Given the description of an element on the screen output the (x, y) to click on. 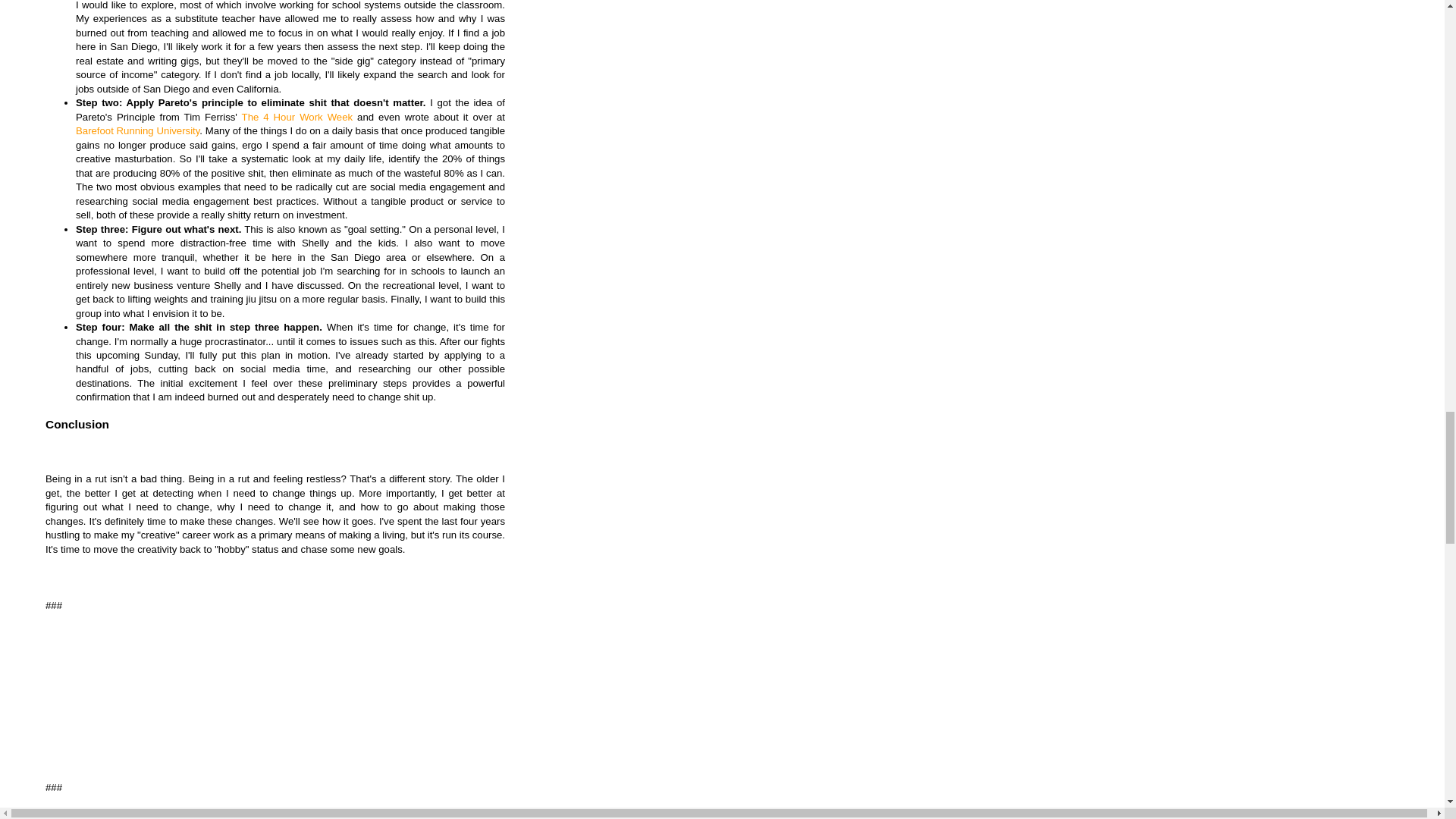
The 4 Hour Work Week (297, 116)
Barefoot Running University (137, 130)
